Given the description of an element on the screen output the (x, y) to click on. 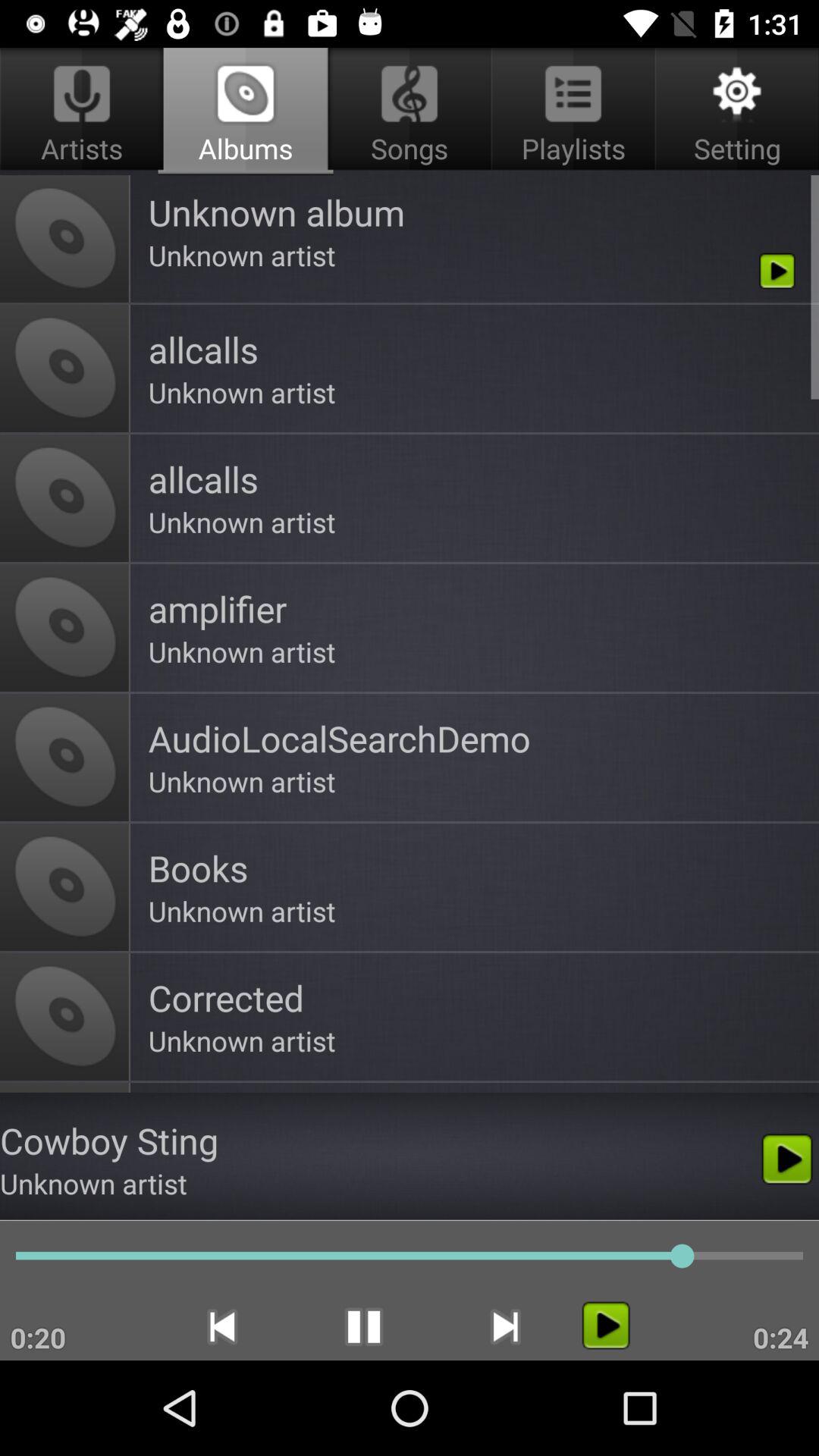
open icon to the left of 0:24 (605, 1325)
